Given the description of an element on the screen output the (x, y) to click on. 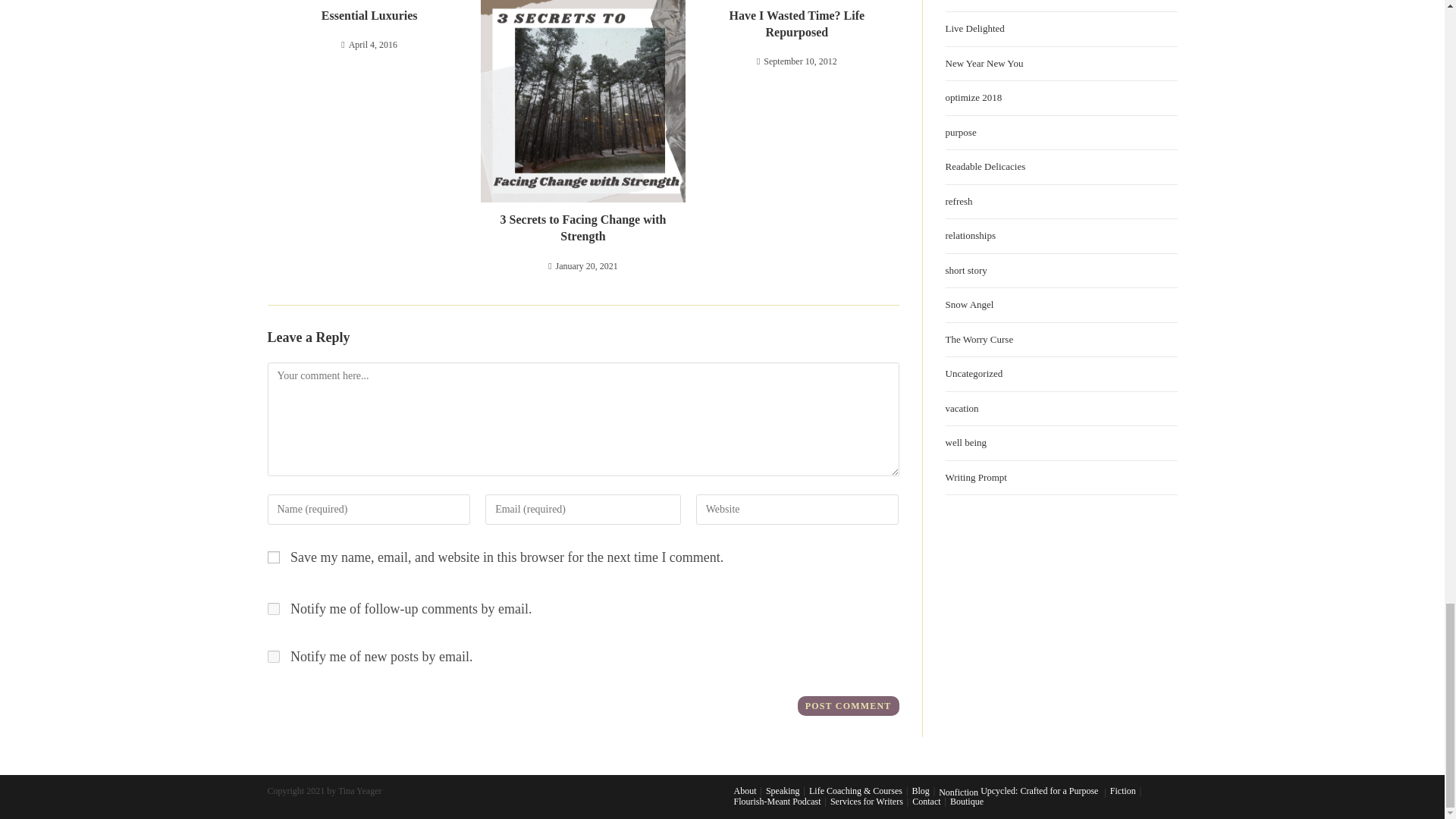
Post Comment (848, 705)
Have I Wasted Time? Life Repurposed (796, 24)
3 Secrets to Facing Change with Strength (582, 228)
subscribe (272, 656)
subscribe (272, 608)
yes (272, 557)
Essential Luxuries (368, 15)
